Given the description of an element on the screen output the (x, y) to click on. 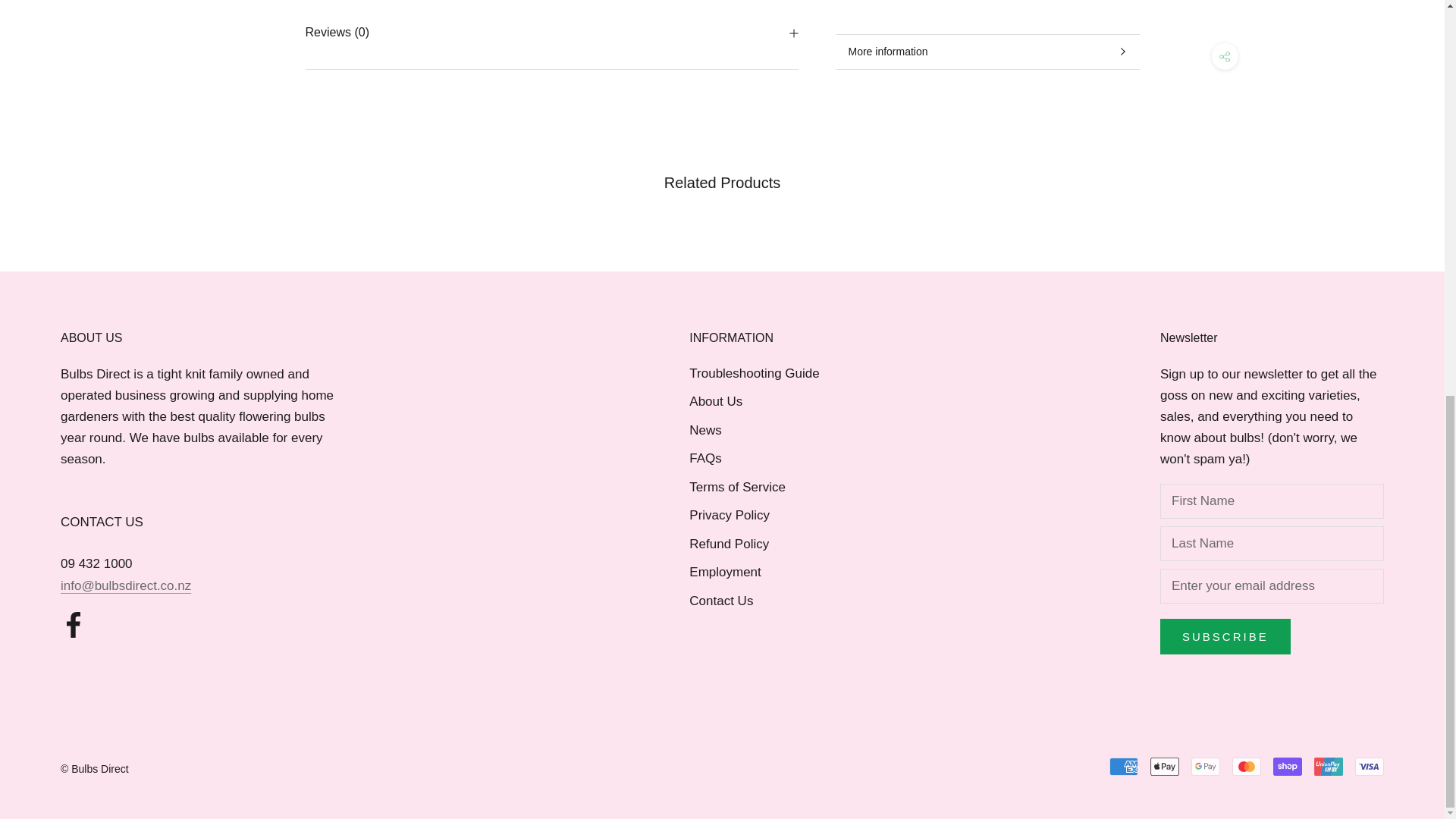
Google Pay (1205, 766)
Shop Pay (1286, 766)
American Express (1123, 766)
Mastercard (1245, 766)
Visa (1369, 766)
Apple Pay (1164, 766)
Union Pay (1328, 766)
